Given the description of an element on the screen output the (x, y) to click on. 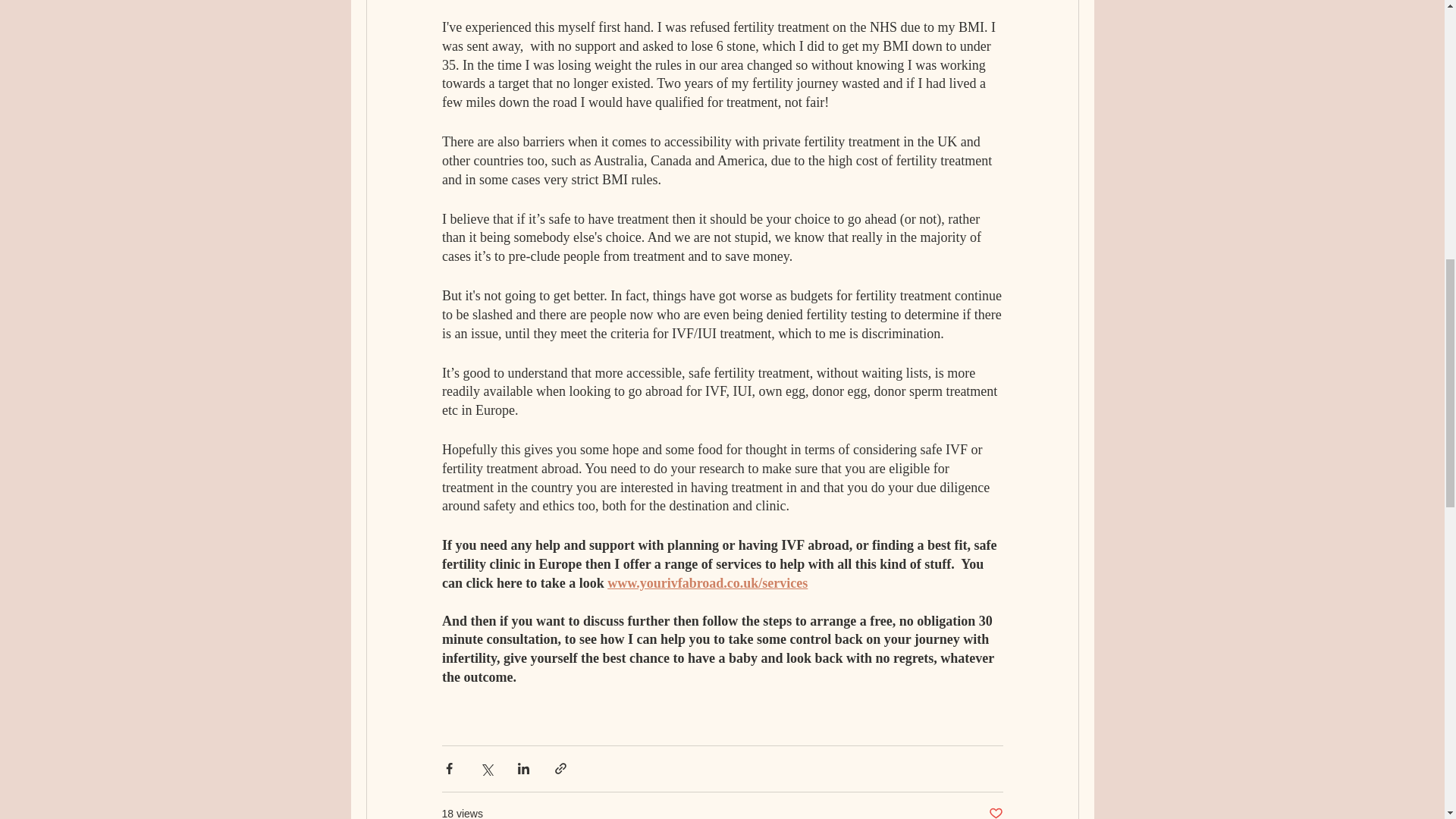
Post not marked as liked (995, 812)
